Given the description of an element on the screen output the (x, y) to click on. 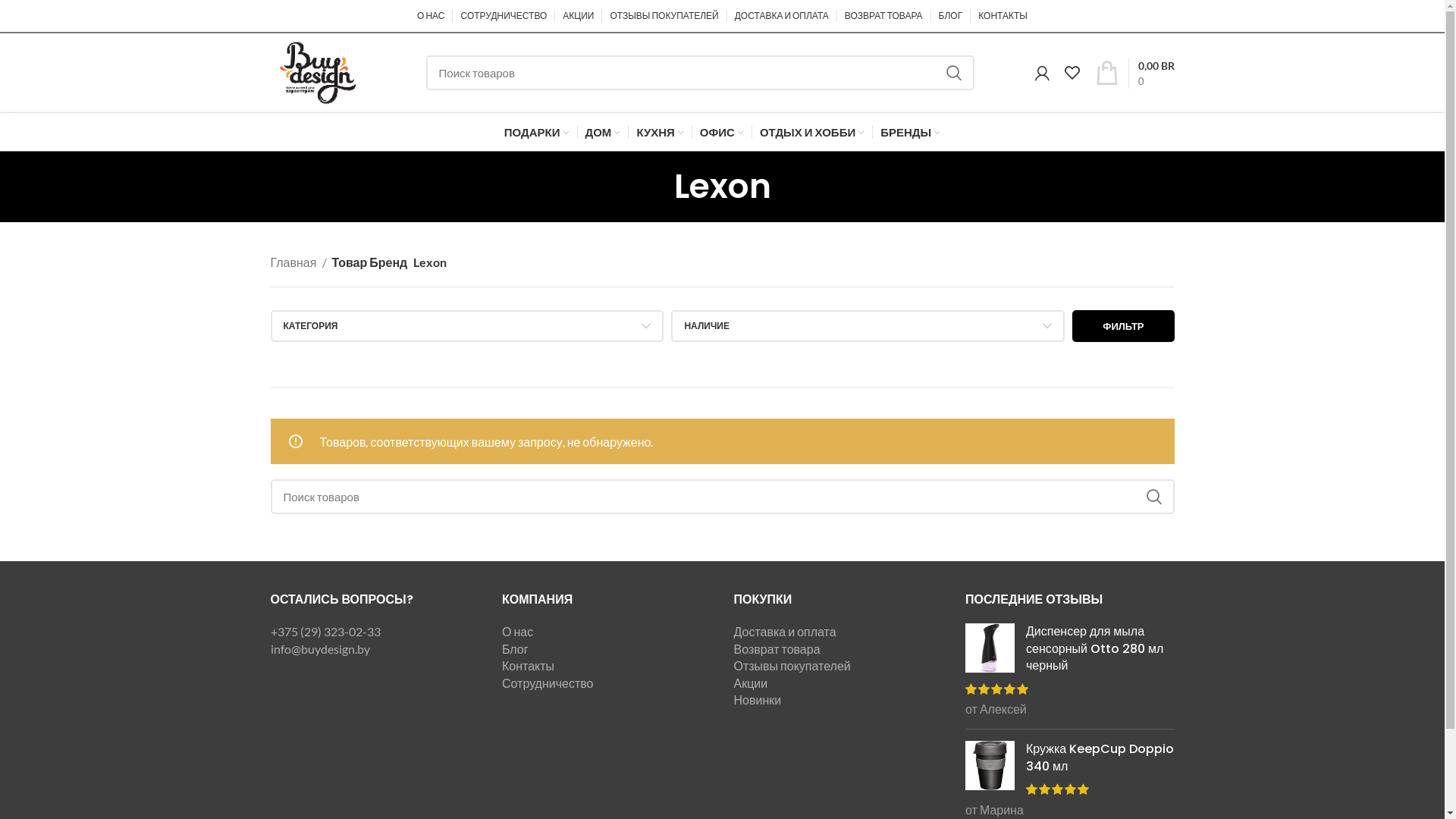
0
0,00 BR Element type: text (1134, 72)
info@buydesign.by Element type: text (319, 648)
+375 (29) 323-02-33 Element type: text (324, 631)
